Given the description of an element on the screen output the (x, y) to click on. 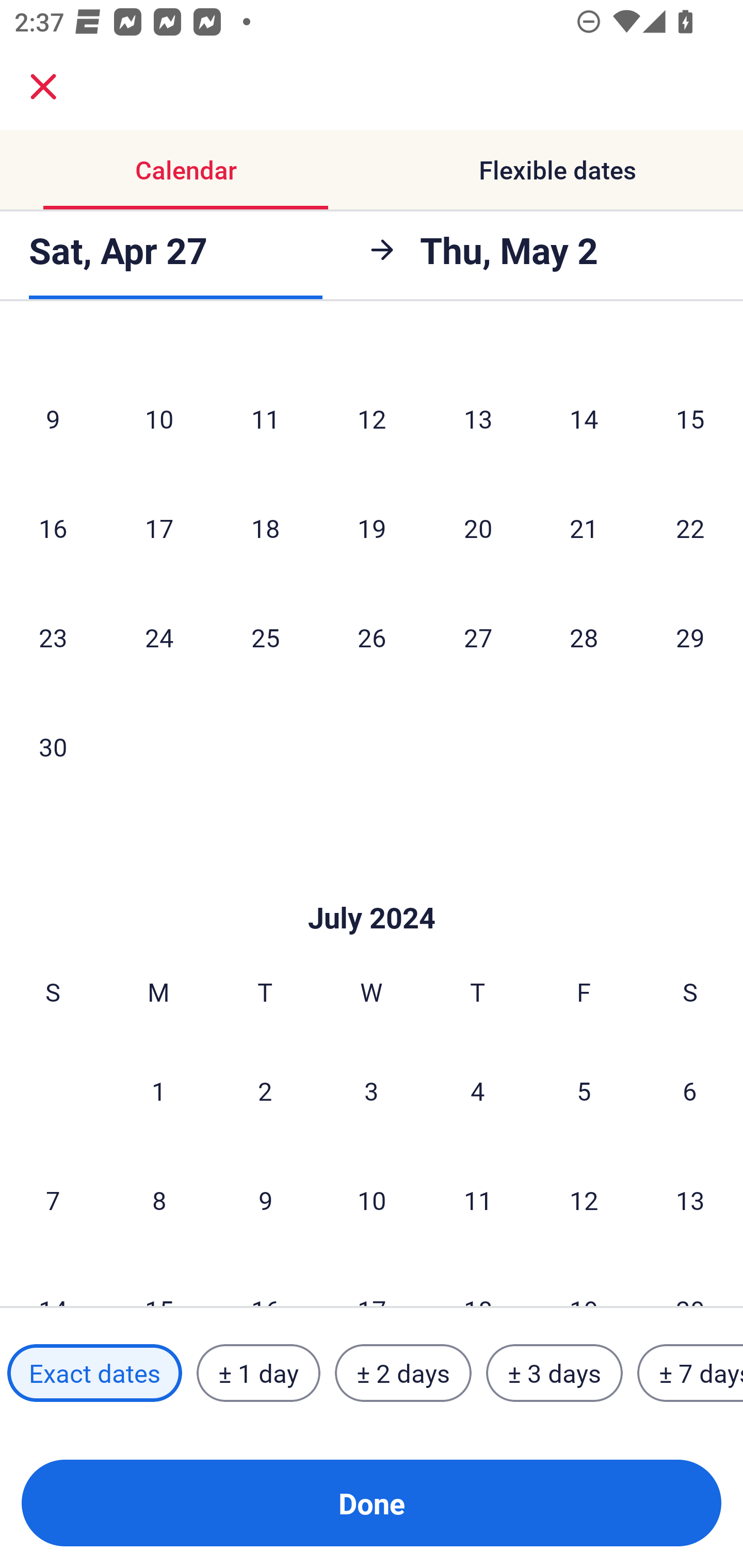
close. (43, 86)
Flexible dates (557, 170)
9 Sunday, June 9, 2024 (53, 418)
10 Monday, June 10, 2024 (159, 418)
11 Tuesday, June 11, 2024 (265, 418)
12 Wednesday, June 12, 2024 (371, 418)
13 Thursday, June 13, 2024 (477, 418)
14 Friday, June 14, 2024 (584, 418)
15 Saturday, June 15, 2024 (690, 418)
16 Sunday, June 16, 2024 (53, 527)
17 Monday, June 17, 2024 (159, 527)
18 Tuesday, June 18, 2024 (265, 527)
19 Wednesday, June 19, 2024 (371, 527)
20 Thursday, June 20, 2024 (477, 527)
21 Friday, June 21, 2024 (584, 527)
22 Saturday, June 22, 2024 (690, 527)
23 Sunday, June 23, 2024 (53, 636)
24 Monday, June 24, 2024 (159, 636)
25 Tuesday, June 25, 2024 (265, 636)
26 Wednesday, June 26, 2024 (371, 636)
27 Thursday, June 27, 2024 (477, 636)
28 Friday, June 28, 2024 (584, 636)
29 Saturday, June 29, 2024 (690, 636)
30 Sunday, June 30, 2024 (53, 746)
Skip to Done (371, 886)
1 Monday, July 1, 2024 (158, 1090)
2 Tuesday, July 2, 2024 (264, 1090)
3 Wednesday, July 3, 2024 (371, 1090)
4 Thursday, July 4, 2024 (477, 1090)
5 Friday, July 5, 2024 (583, 1090)
6 Saturday, July 6, 2024 (689, 1090)
7 Sunday, July 7, 2024 (53, 1199)
8 Monday, July 8, 2024 (159, 1199)
9 Tuesday, July 9, 2024 (265, 1199)
10 Wednesday, July 10, 2024 (371, 1199)
11 Thursday, July 11, 2024 (477, 1199)
12 Friday, July 12, 2024 (584, 1199)
13 Saturday, July 13, 2024 (690, 1199)
Exact dates (94, 1372)
± 1 day (258, 1372)
± 2 days (403, 1372)
± 3 days (553, 1372)
± 7 days (690, 1372)
Done (371, 1502)
